Given the description of an element on the screen output the (x, y) to click on. 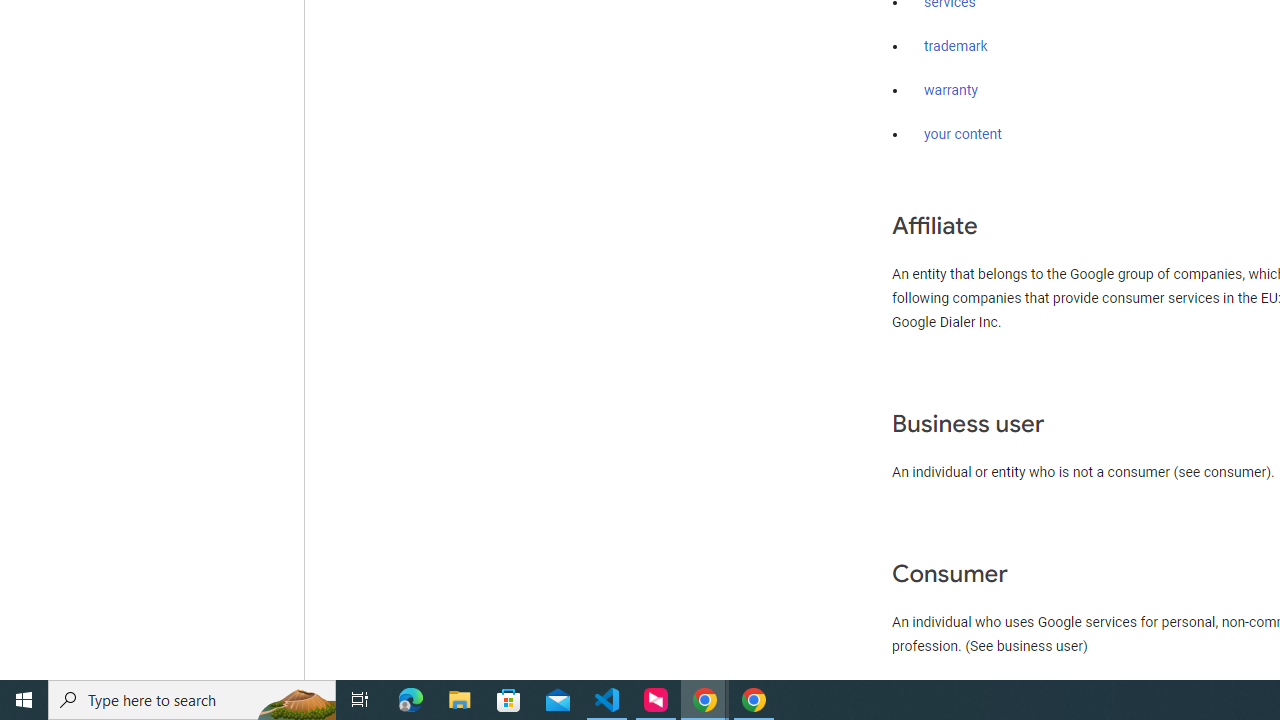
trademark (956, 47)
warranty (950, 91)
your content (963, 134)
